Given the description of an element on the screen output the (x, y) to click on. 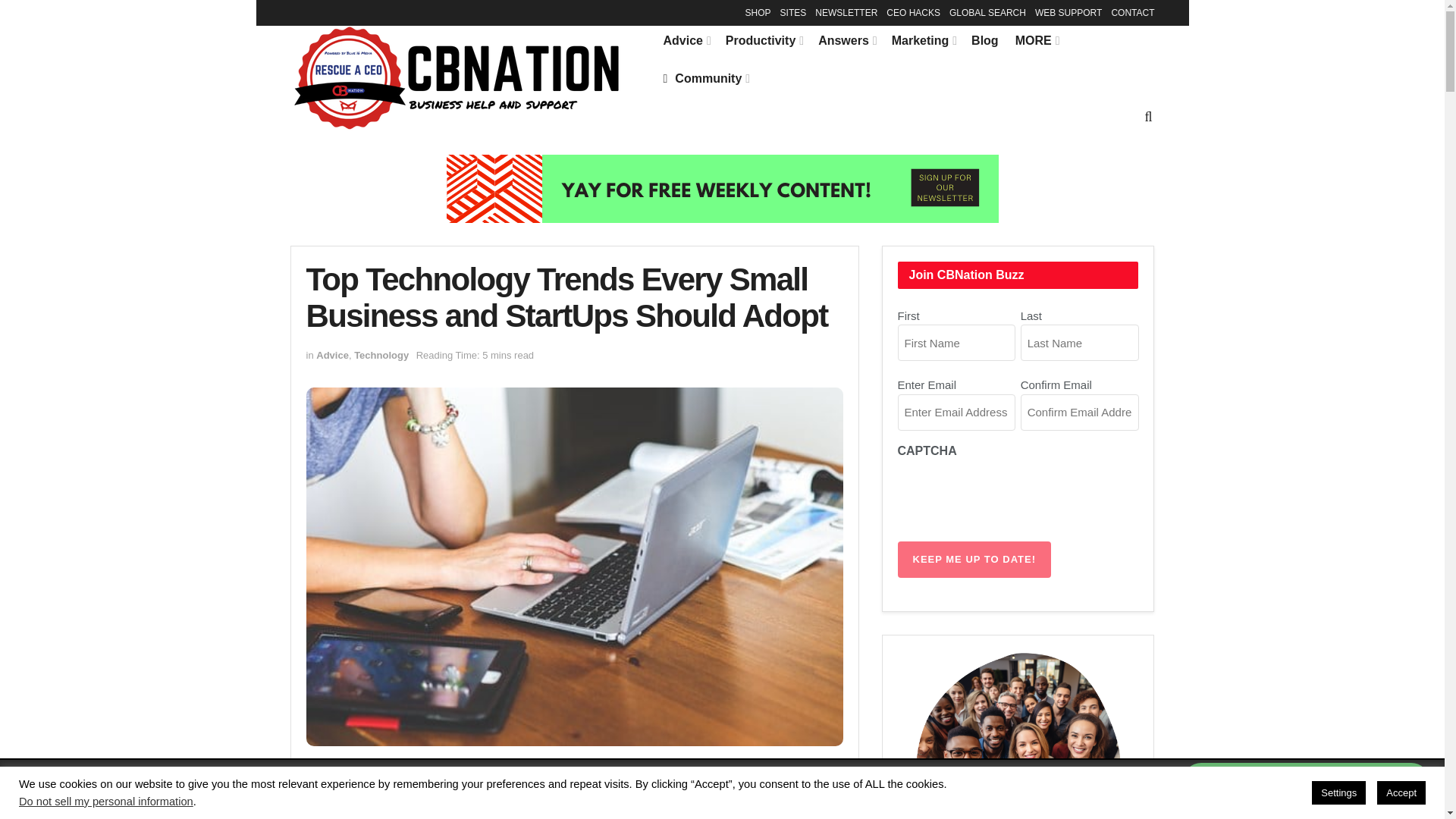
reCAPTCHA (1013, 495)
GLOBAL SEARCH (987, 12)
CONTACT (1132, 12)
Speed: Normal (601, 781)
CEO HACKS (913, 12)
SHOP (758, 12)
More (1168, 793)
SITES (793, 12)
Forward 60 seconds (788, 781)
Productivity (763, 40)
Back 15 seconds (658, 781)
Advice (684, 40)
WEB SUPPORT (1068, 12)
Keep me up to date! (974, 559)
NEWSLETTER (846, 12)
